Given the description of an element on the screen output the (x, y) to click on. 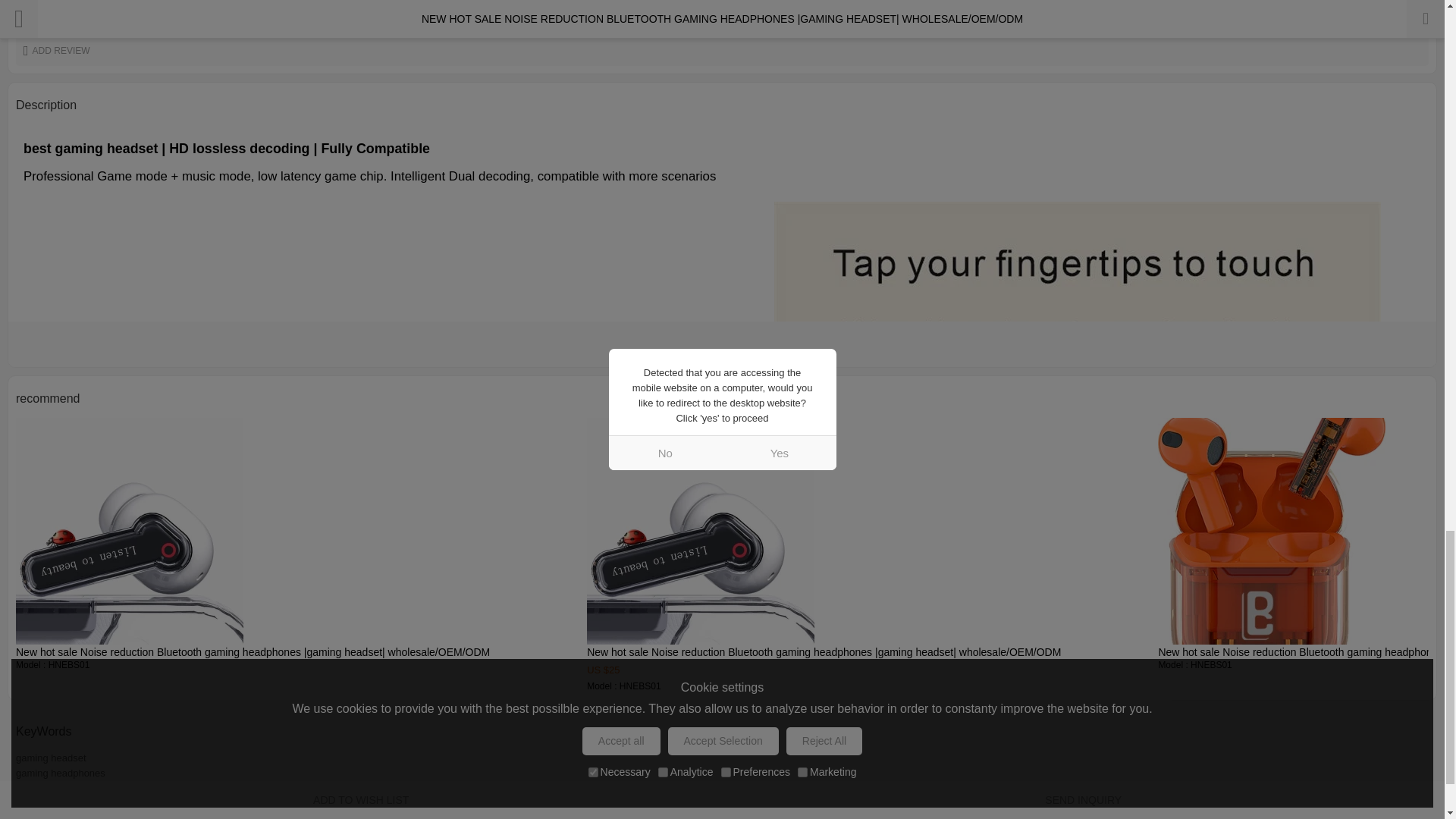
ADD REVIEW (722, 51)
Add review (722, 51)
Review (1409, 11)
View More (721, 343)
MORE (1409, 11)
VIEW MORE (721, 343)
